Given the description of an element on the screen output the (x, y) to click on. 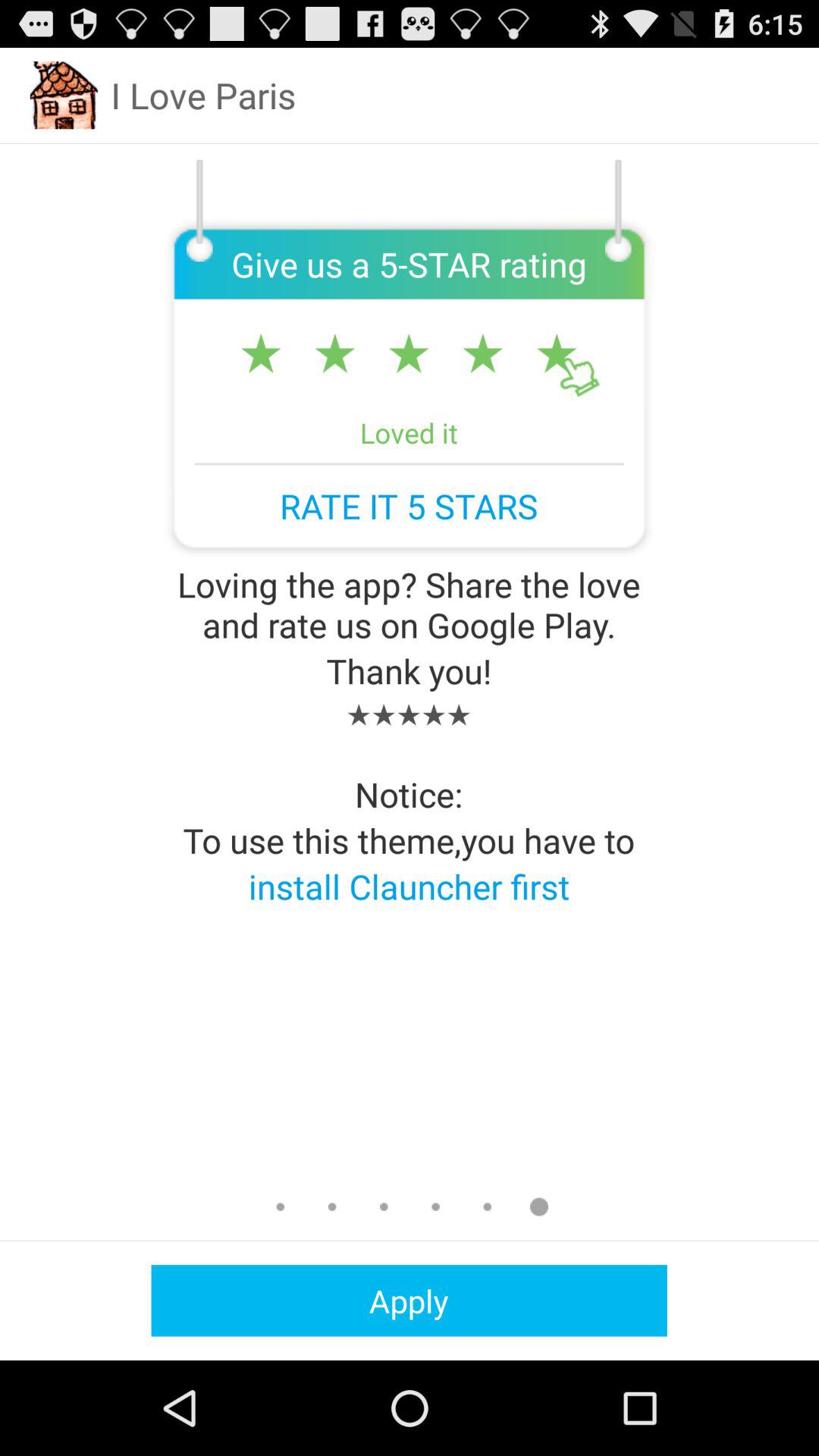
click on second star from right (334, 352)
